Given the description of an element on the screen output the (x, y) to click on. 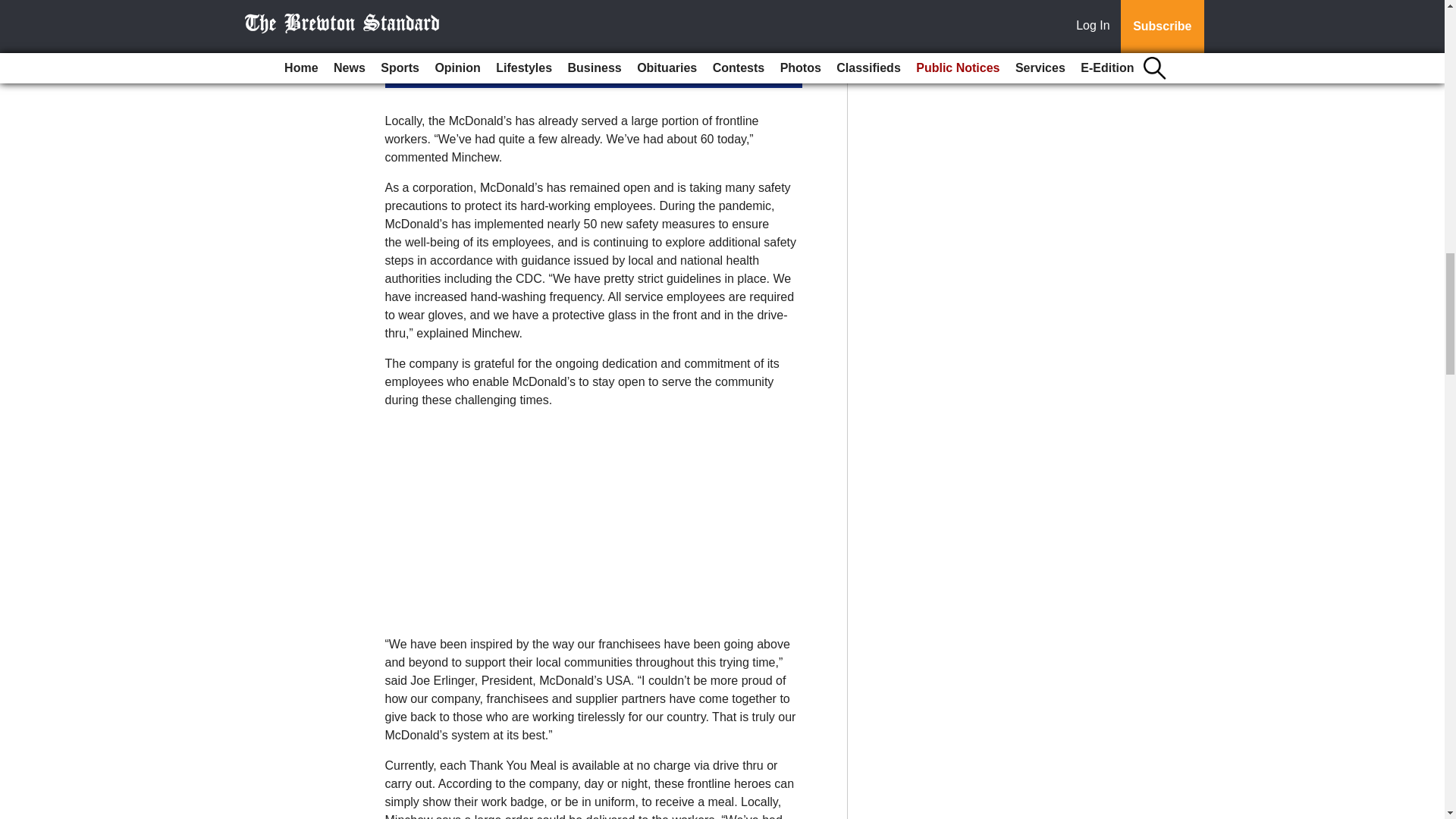
Subscribe (434, 71)
Subscribe (434, 71)
